Given the description of an element on the screen output the (x, y) to click on. 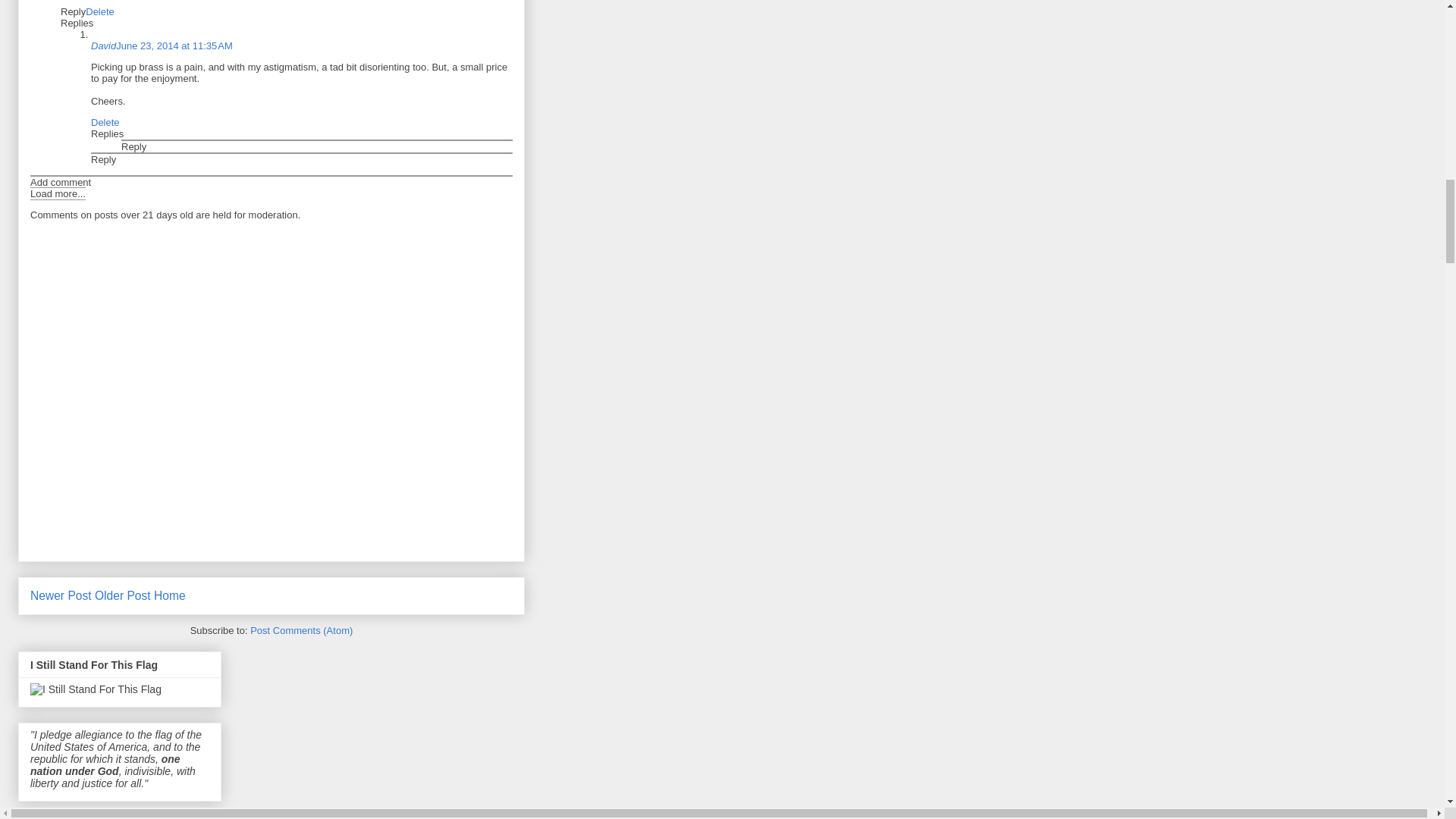
Reply (103, 159)
Newer Post (60, 594)
Newer Post (60, 594)
Reply (133, 146)
Delete (104, 122)
Add comment (60, 182)
David (103, 45)
Replies (77, 22)
Older Post (122, 594)
Reply (73, 11)
Load more... (57, 193)
Home (170, 594)
Replies (106, 133)
Delete (100, 11)
Older Post (122, 594)
